Given the description of an element on the screen output the (x, y) to click on. 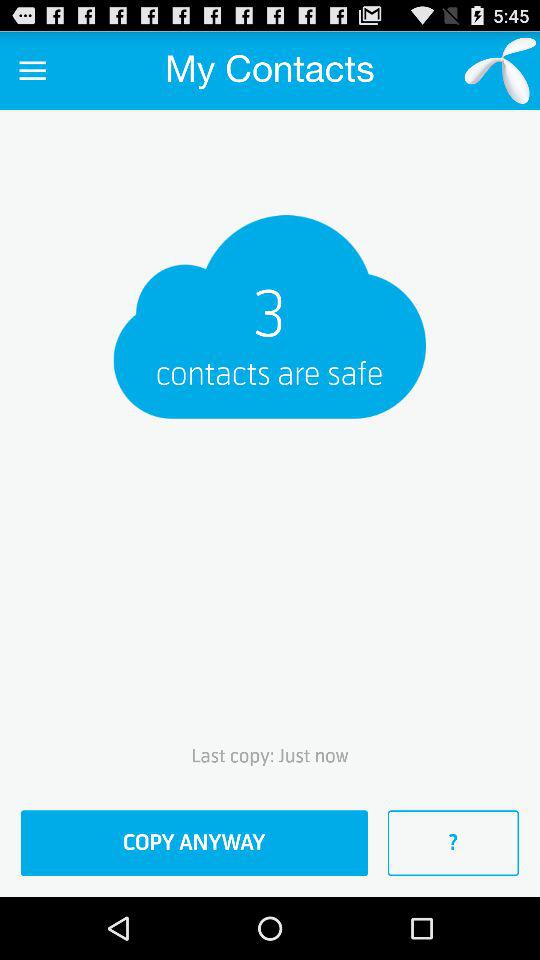
turn off the copy anyway icon (194, 843)
